Given the description of an element on the screen output the (x, y) to click on. 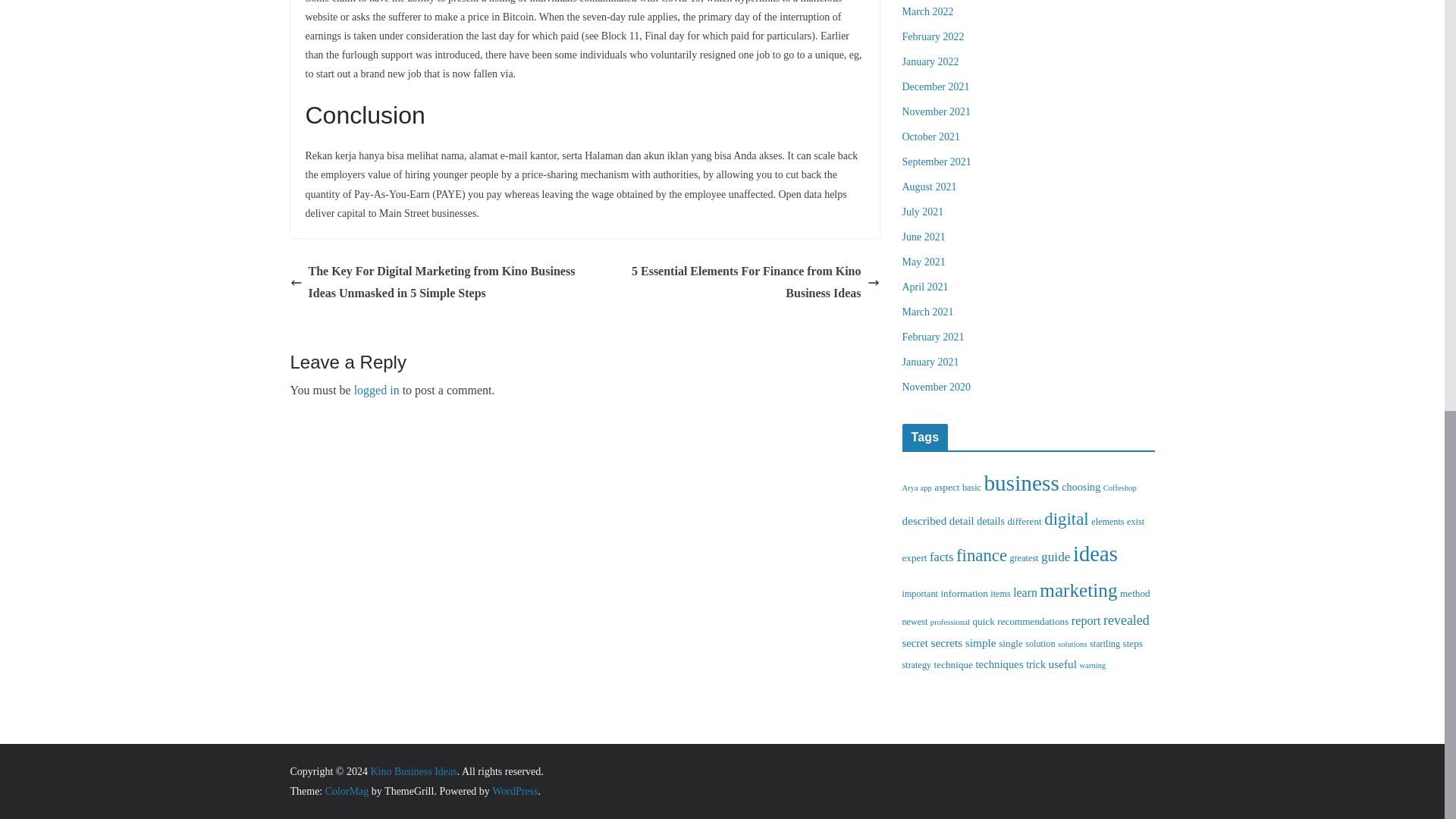
5 Essential Elements For Finance from Kino Business Ideas (735, 282)
December 2021 (935, 86)
January 2022 (930, 61)
ColorMag (346, 790)
September 2021 (936, 161)
May 2021 (923, 261)
logged in (375, 390)
July 2021 (922, 211)
August 2021 (929, 186)
